Given the description of an element on the screen output the (x, y) to click on. 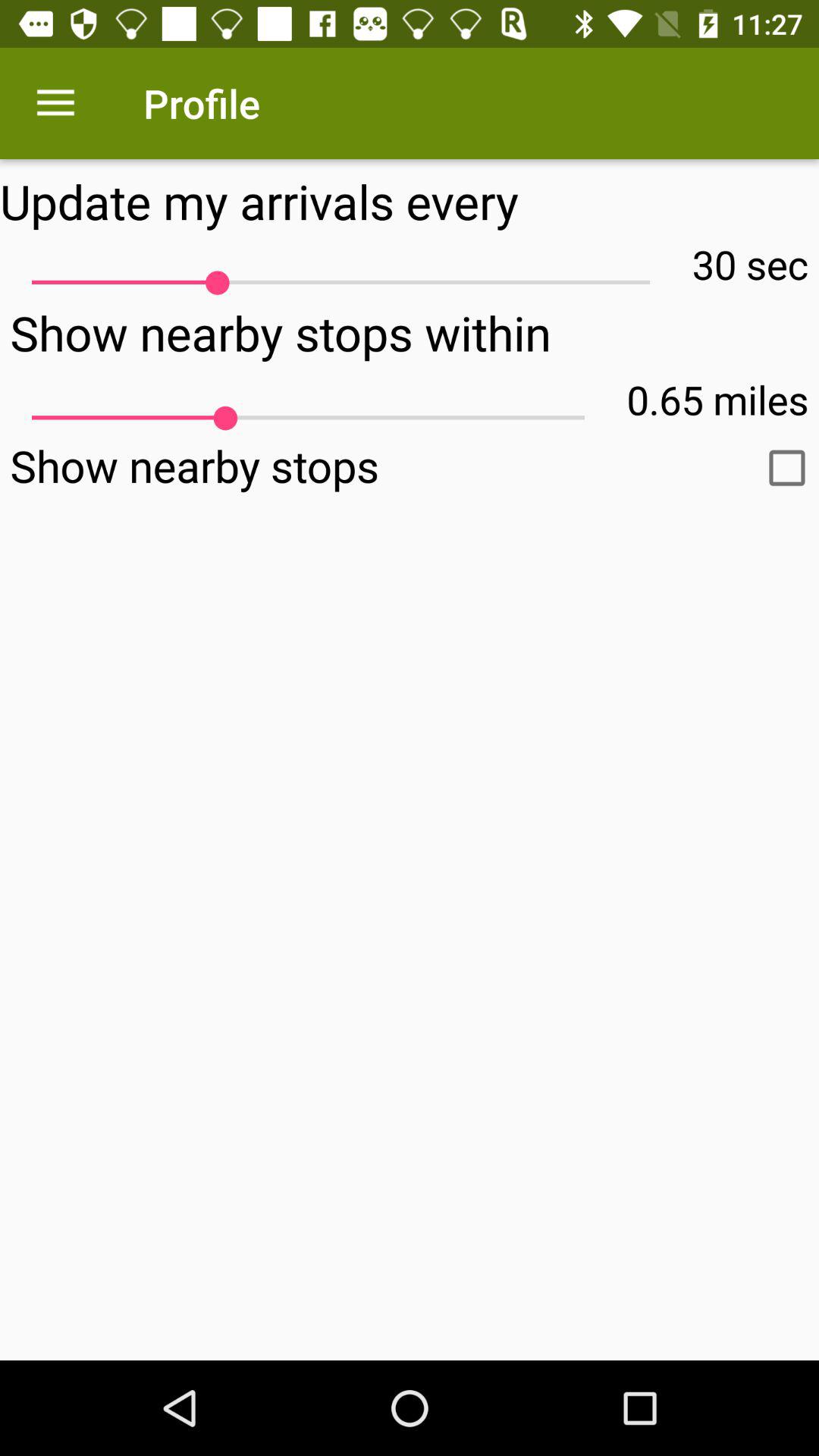
toggle showing nearby stops (787, 467)
